Given the description of an element on the screen output the (x, y) to click on. 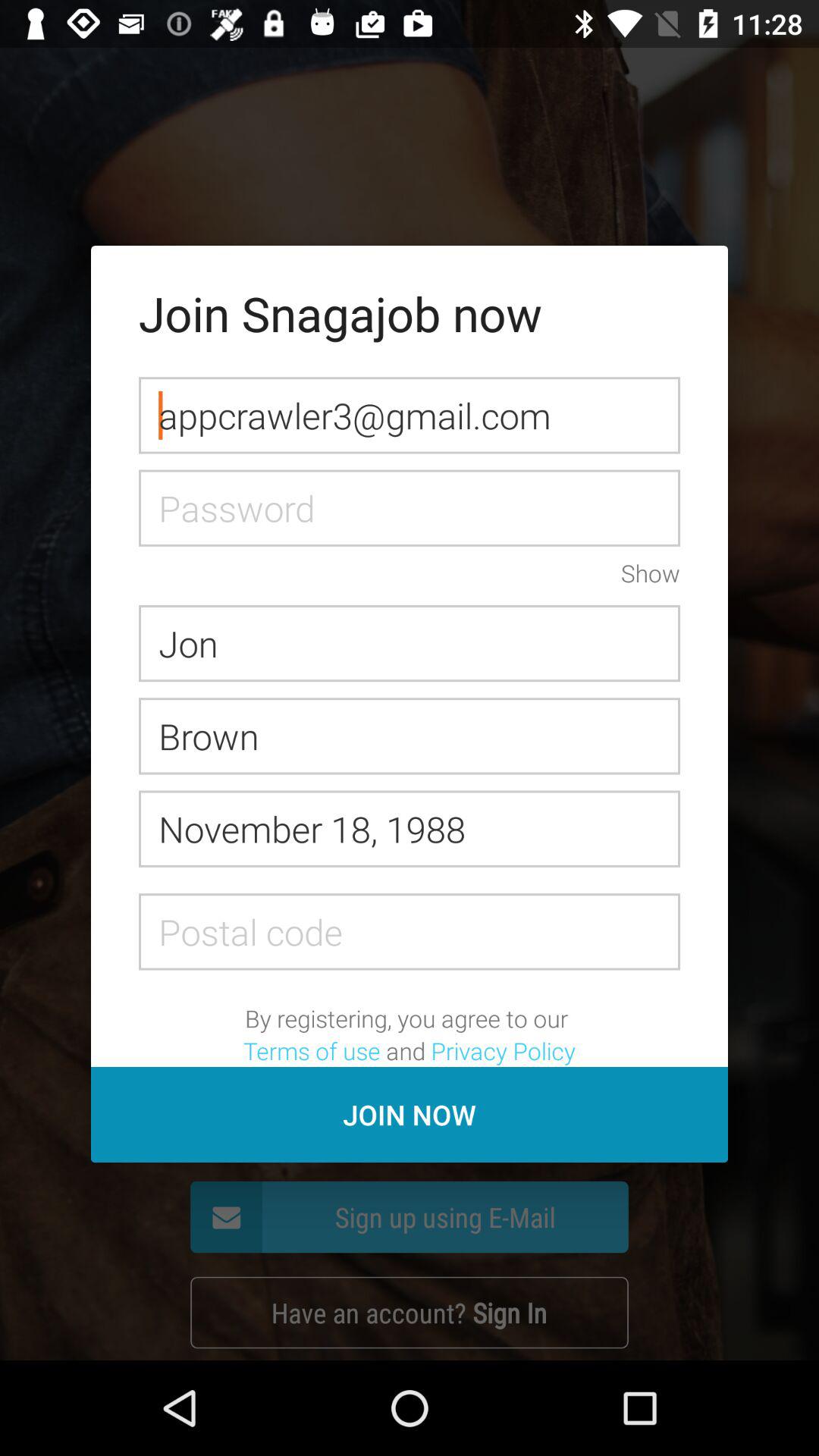
enter zipcode (409, 931)
